Given the description of an element on the screen output the (x, y) to click on. 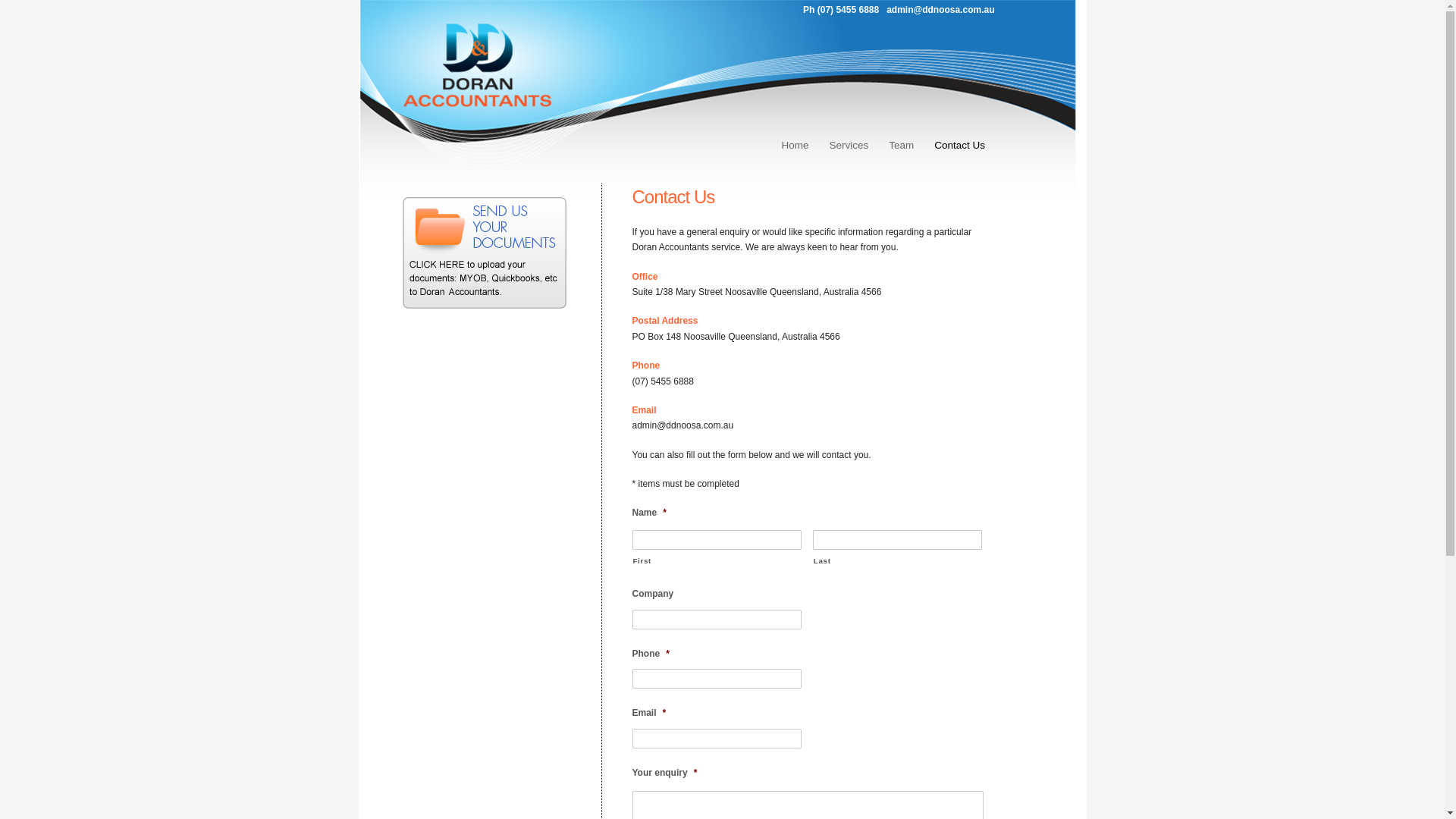
Services Element type: text (848, 144)
Home Element type: text (795, 144)
Team Element type: text (901, 144)
Contact Us Element type: text (959, 144)
